Given the description of an element on the screen output the (x, y) to click on. 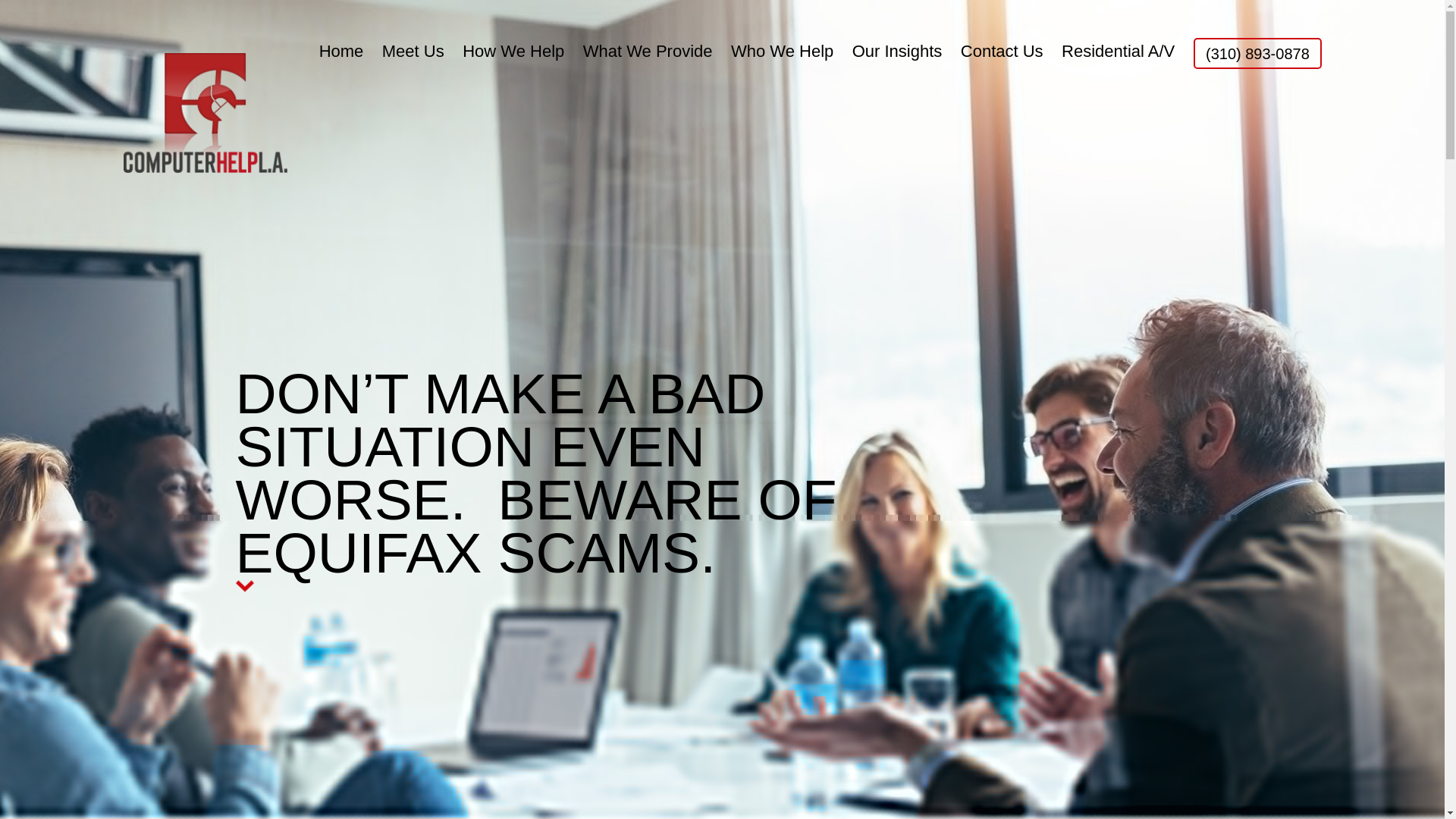
Our Insights (896, 50)
Contact Us (1001, 50)
Meet Us (412, 50)
Who We Help (781, 50)
Home (341, 50)
How We Help (513, 50)
What We Provide (648, 50)
